Given the description of an element on the screen output the (x, y) to click on. 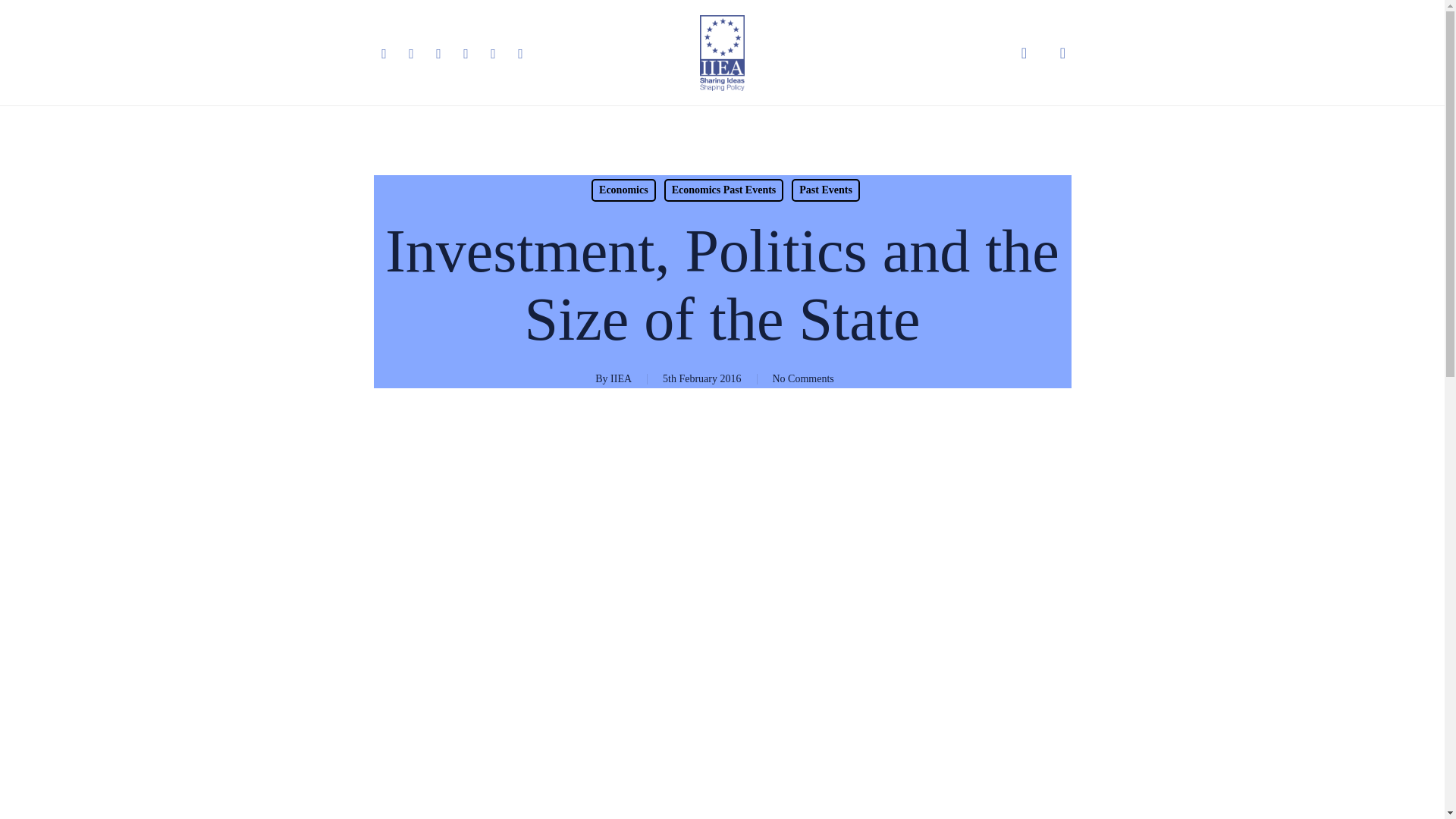
youtube (465, 53)
Economics Past Events (723, 190)
facebook (411, 53)
search (1023, 53)
No Comments (801, 378)
twitter (383, 53)
spotify (520, 53)
linkedin (438, 53)
Economics (623, 190)
IIEA (620, 378)
Past Events (826, 190)
instagram (492, 53)
Posts by IIEA (620, 378)
